Given the description of an element on the screen output the (x, y) to click on. 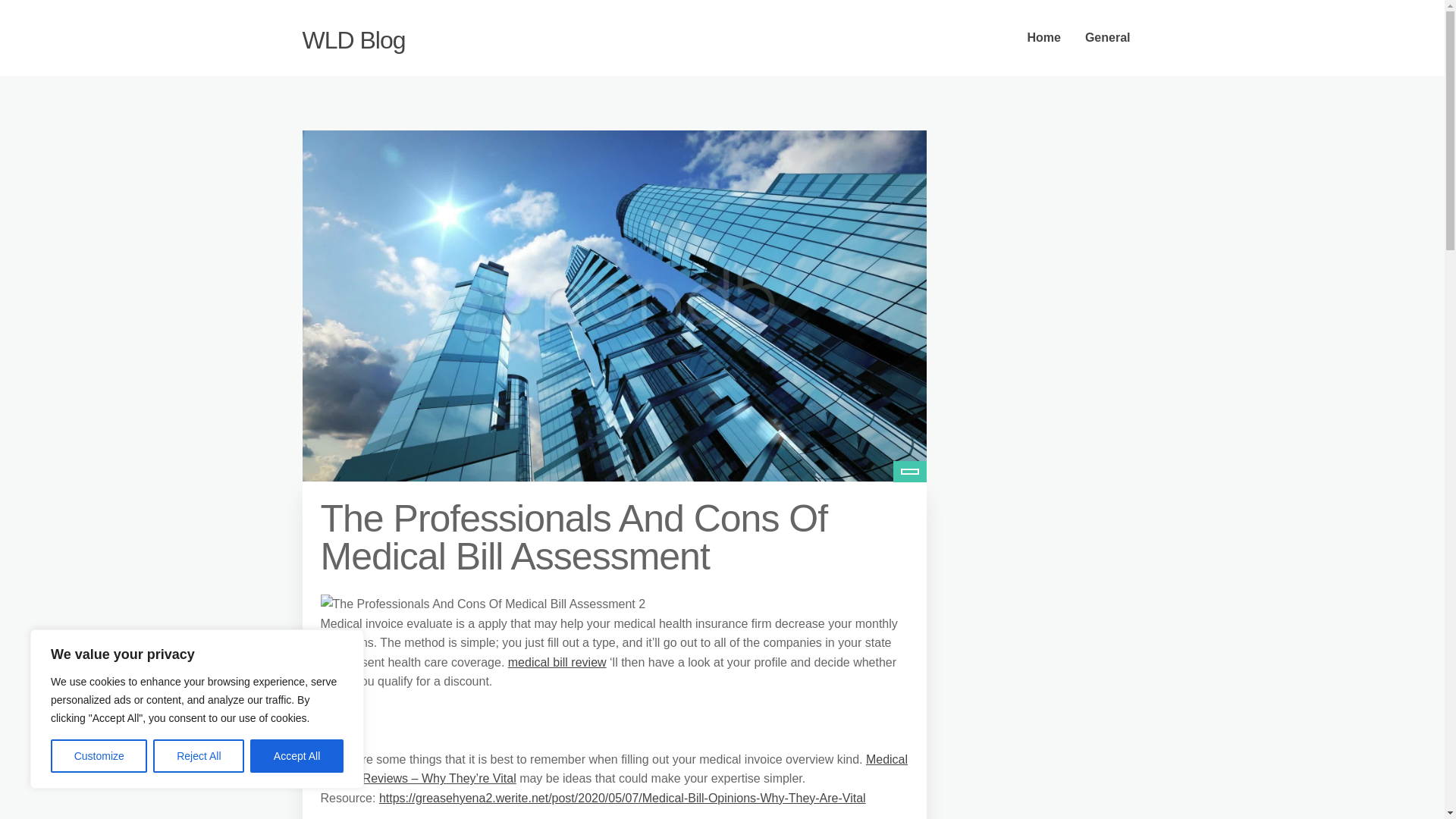
WLD Blog (352, 39)
General (1107, 37)
Accept All (296, 756)
Reject All (198, 756)
Customize (98, 756)
medical bill review (557, 662)
Home (1042, 37)
